Given the description of an element on the screen output the (x, y) to click on. 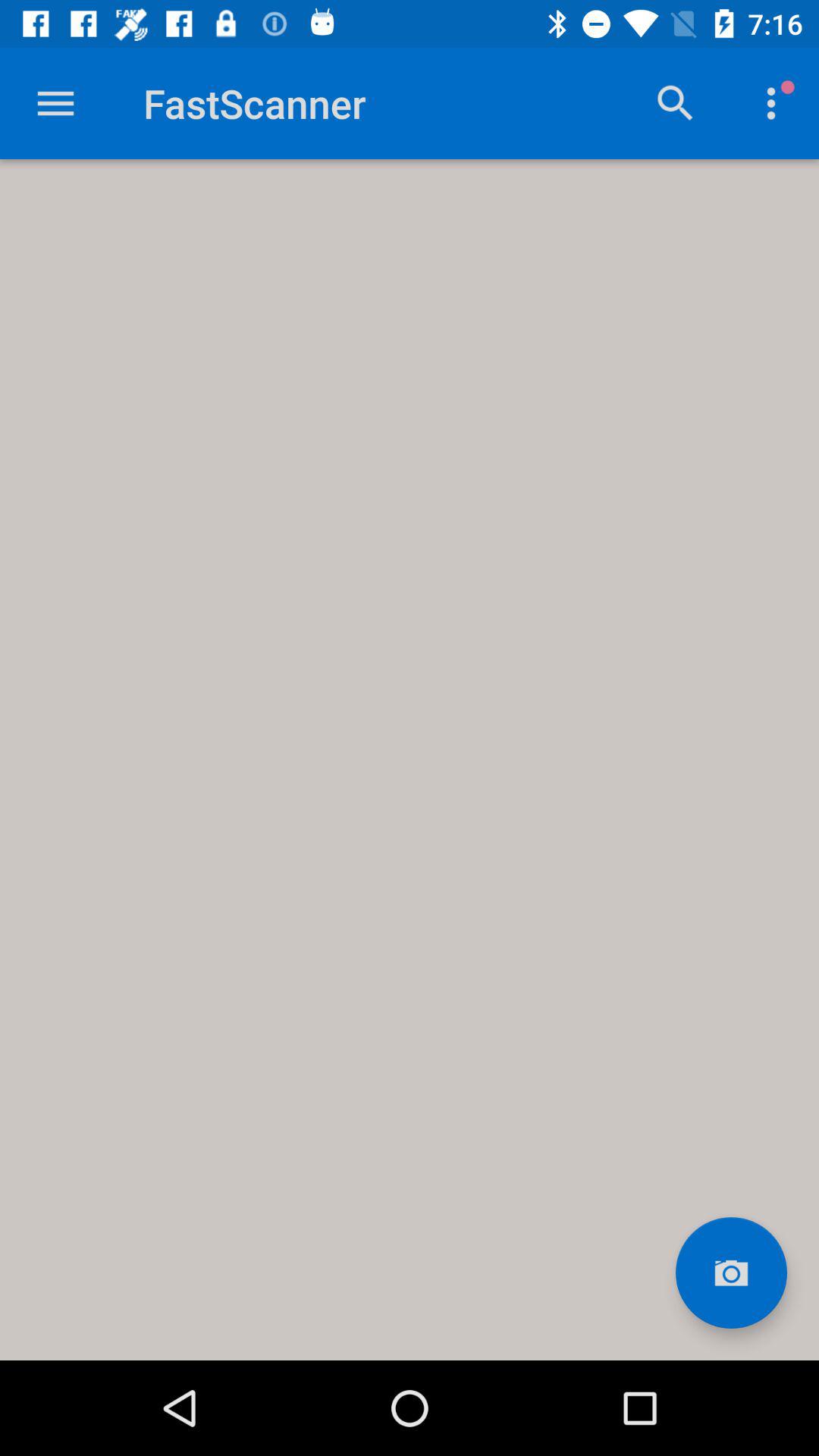
menu list (55, 103)
